Given the description of an element on the screen output the (x, y) to click on. 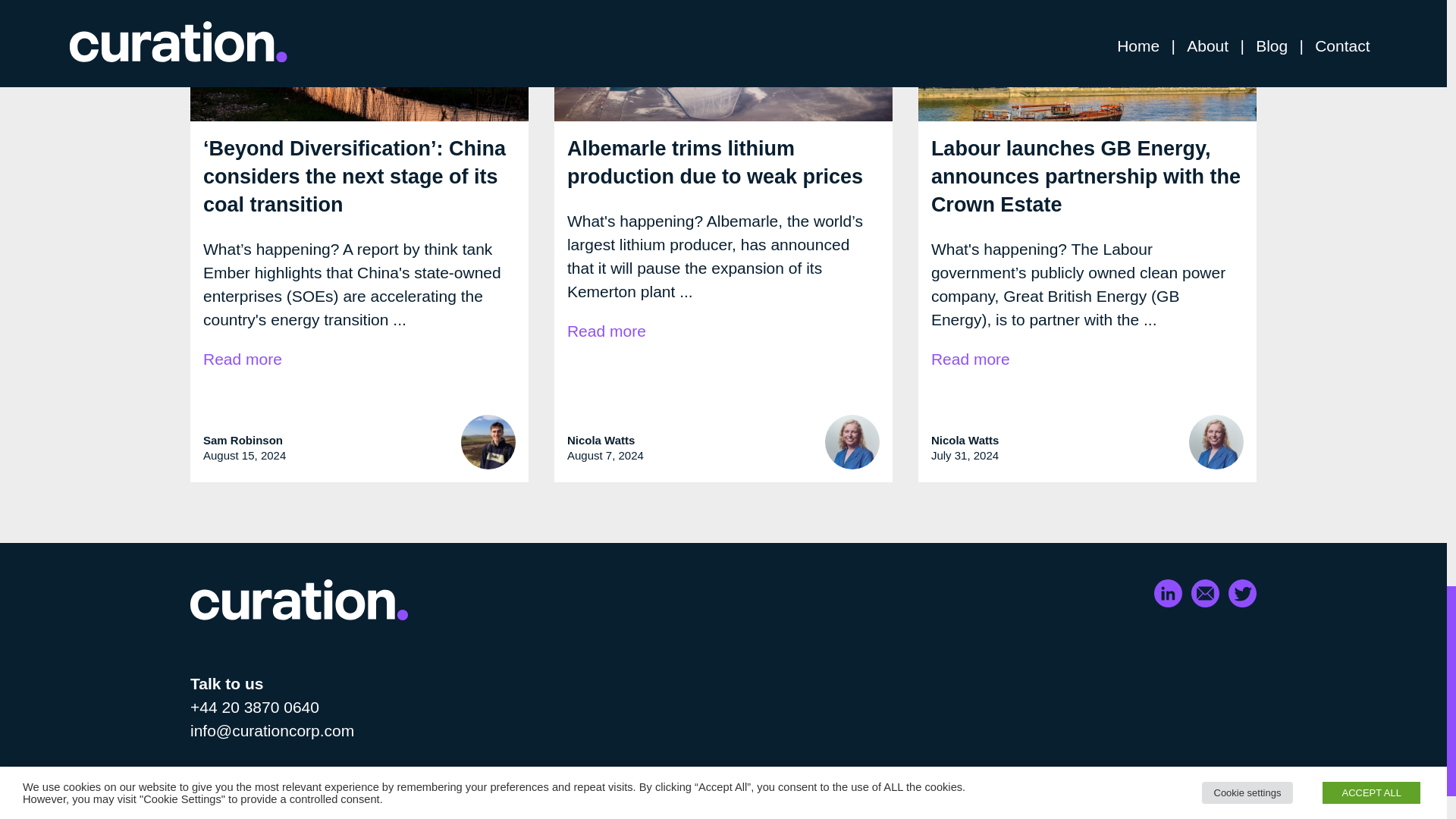
Albemarle trims lithium production due to weak prices (715, 162)
Read more (242, 357)
Read more (606, 330)
